Given the description of an element on the screen output the (x, y) to click on. 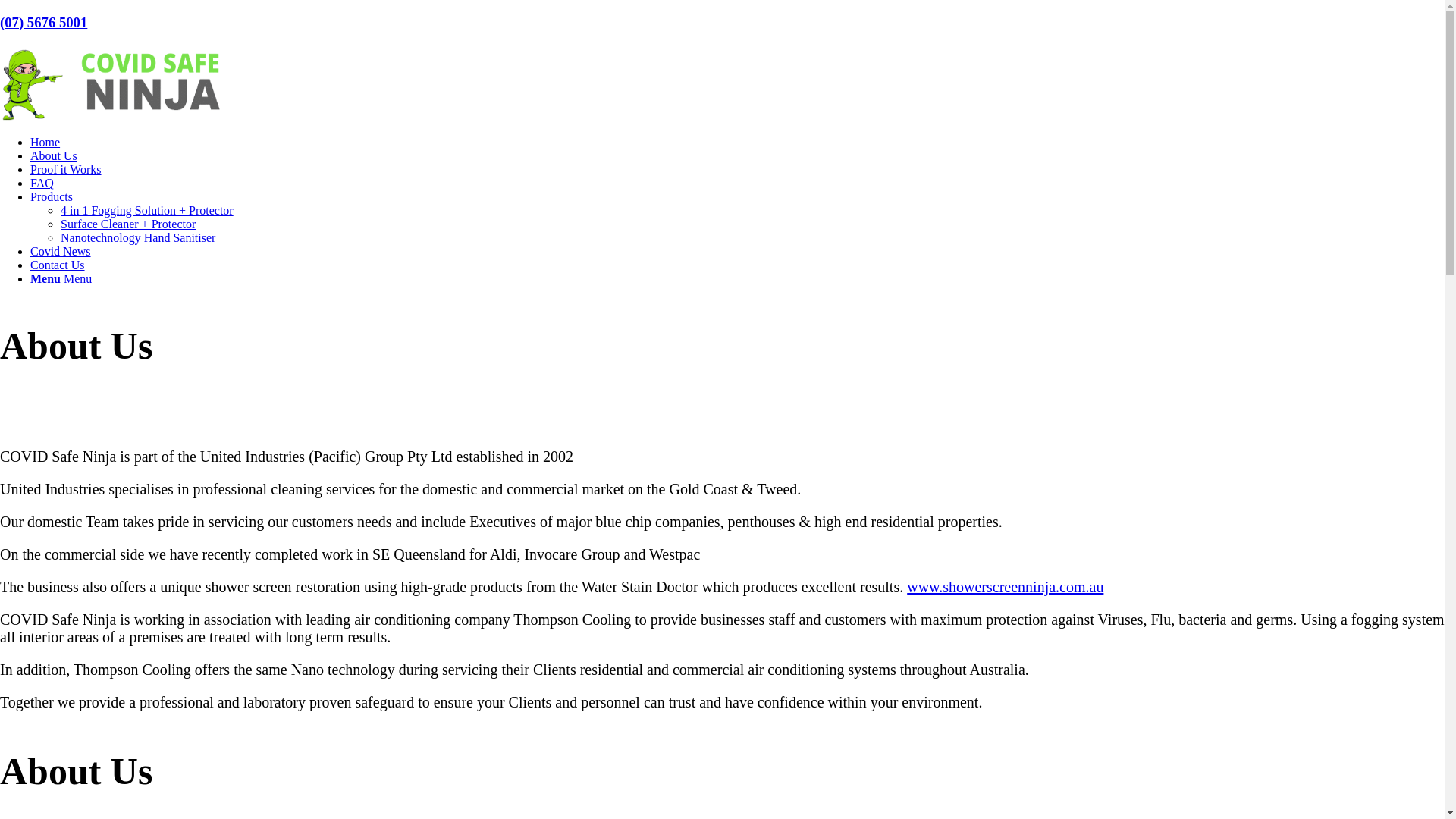
Nanotechnology Hand Sanitiser Element type: text (137, 237)
Menu Menu Element type: text (60, 278)
Proof it Works Element type: text (65, 169)
www.showerscreenninja.com.au Element type: text (1004, 586)
FAQ Element type: text (41, 182)
Home Element type: text (44, 141)
(07) 5676 5001 Element type: text (43, 22)
Surface Cleaner + Protector Element type: text (127, 223)
About Us Element type: text (53, 155)
Kills-Covid-19 Element type: hover (113, 82)
4 in 1 Fogging Solution + Protector Element type: text (146, 209)
Covid News Element type: text (60, 250)
Contact Us Element type: text (57, 264)
Products Element type: text (51, 196)
Kills-Covid-19 Element type: hover (113, 115)
